Given the description of an element on the screen output the (x, y) to click on. 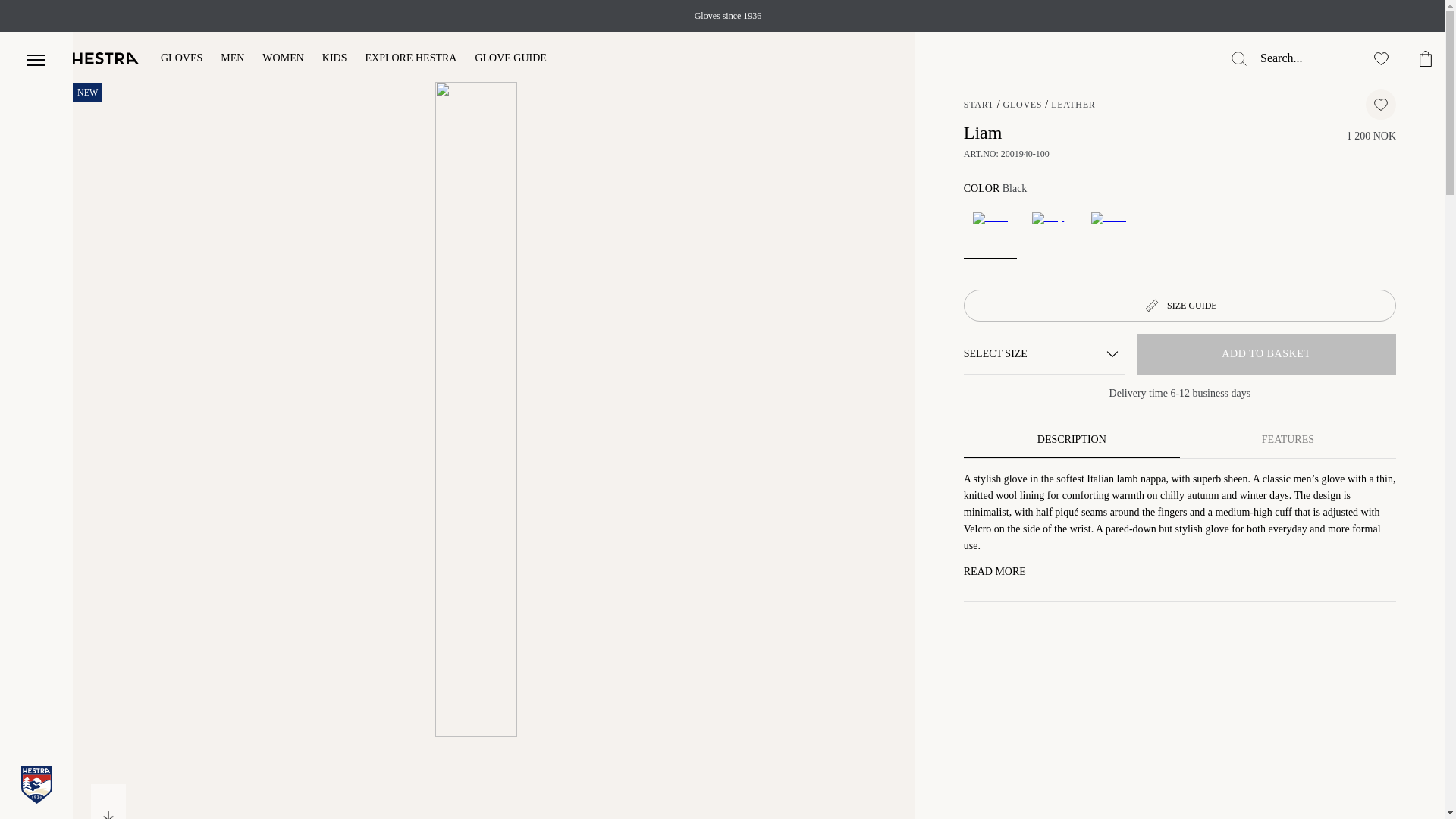
SIZE GUIDE (1179, 305)
WOMEN (282, 58)
GLOVE GUIDE (510, 58)
ADD TO BASKET (1266, 353)
GLOVES (181, 58)
Search... (1302, 57)
DESCRIPTION (1071, 439)
FEATURES (1287, 439)
Image displaying the Hestra logotype (105, 57)
READ MORE (994, 571)
